Given the description of an element on the screen output the (x, y) to click on. 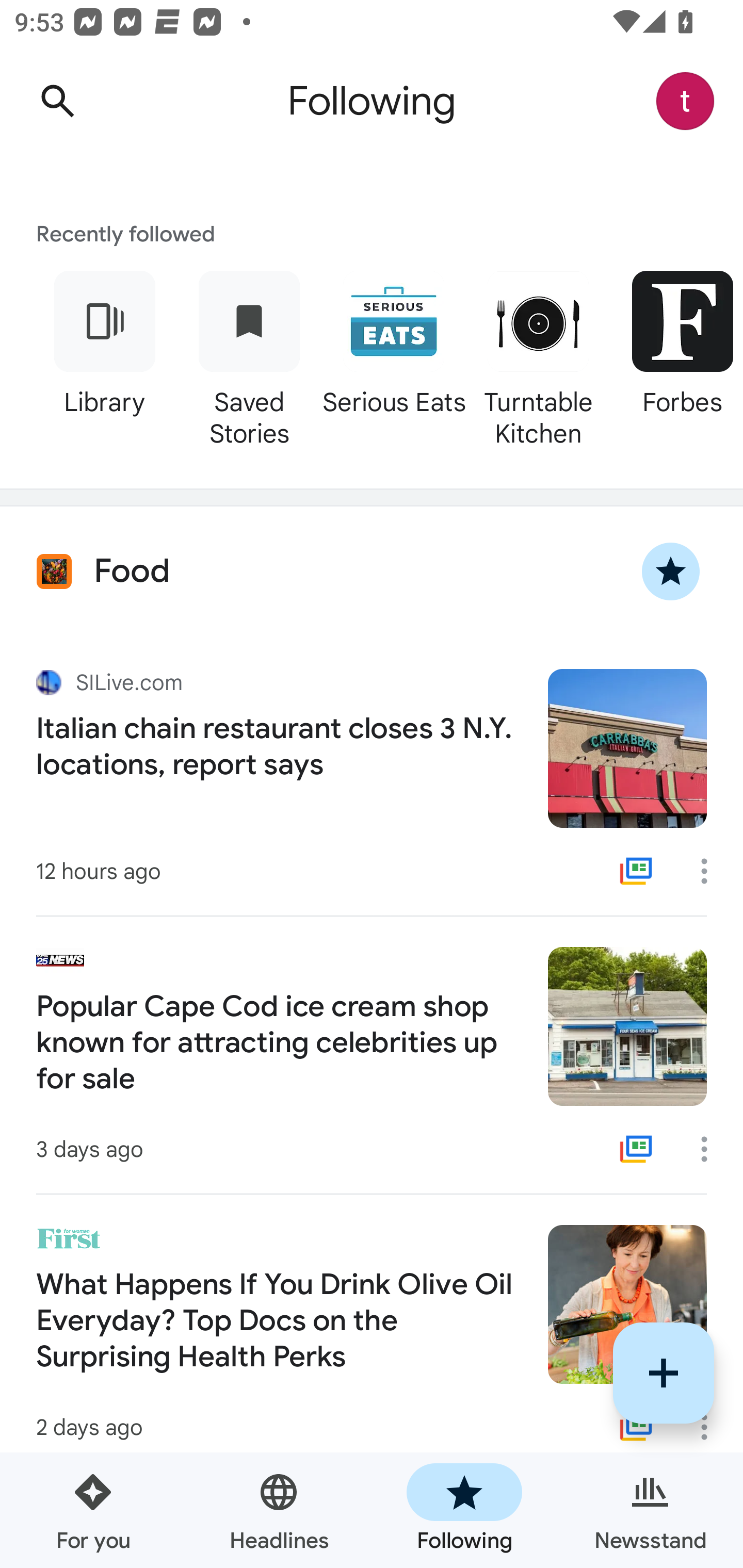
Search (57, 100)
Library (104, 355)
Saved Stories (248, 355)
Serious Eats (393, 355)
Turntable Kitchen (537, 355)
Forbes (676, 355)
Food Food Unfollow (371, 571)
Unfollow (670, 571)
More options (711, 870)
More options (711, 1149)
Follow (663, 1372)
For you (92, 1509)
Headlines (278, 1509)
Following (464, 1509)
Newsstand (650, 1509)
